Given the description of an element on the screen output the (x, y) to click on. 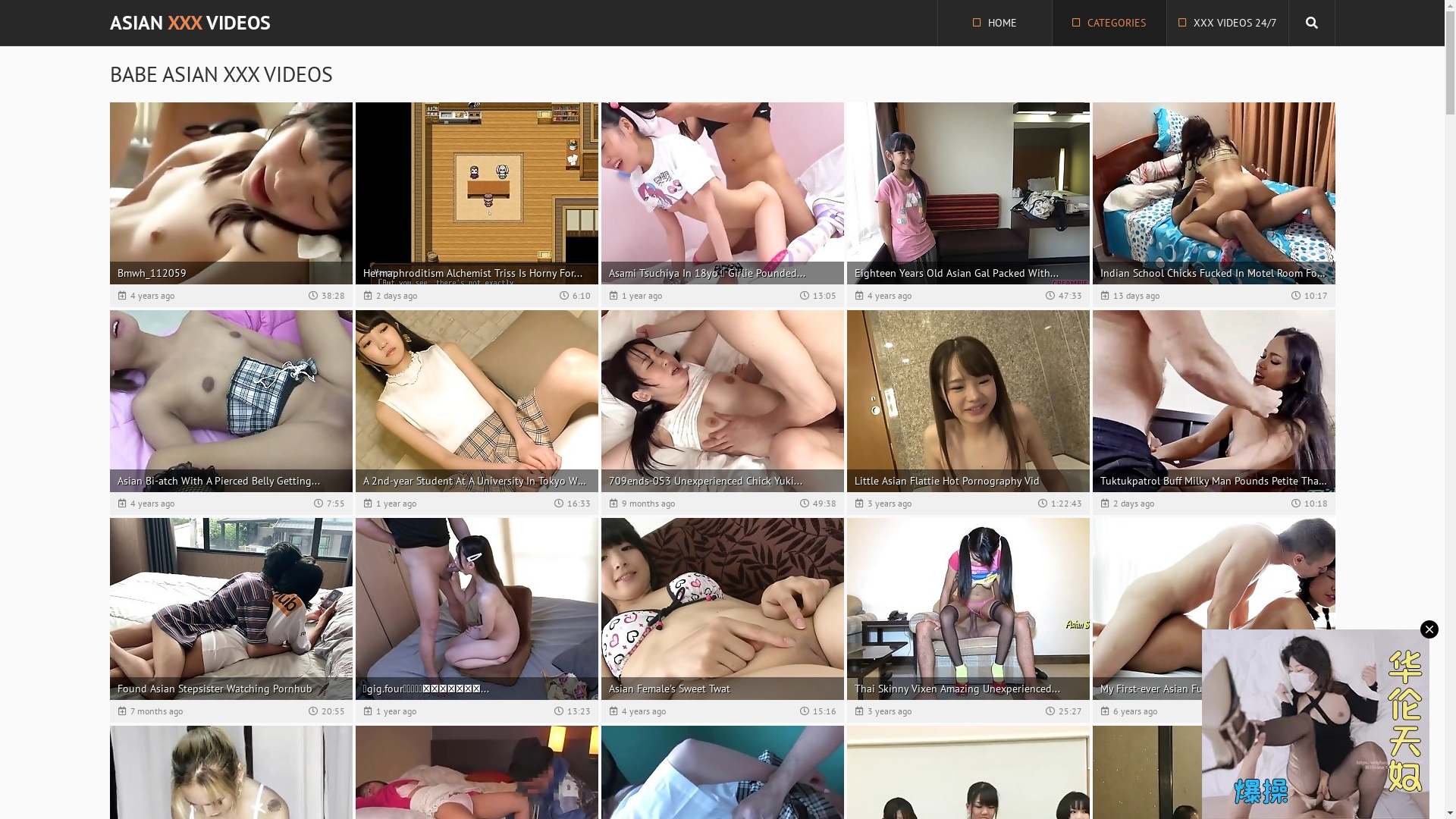
Bmwh_112059
4 years ago
38:28 Element type: text (230, 204)
Asian Female's Sweet Twat
4 years ago
15:16 Element type: text (721, 619)
Little Asian Flattie Hot Pornography Vid
3 years ago
1:22:43 Element type: text (967, 412)
709ends-053 Unexperienced Chick Yuki...
9 months ago
49:38 Element type: text (721, 412)
My First-ever Asian Fuck Customer
6 years ago
9:00 Element type: text (1213, 619)
CATEGORIES Element type: text (1109, 22)
ASIAN XXX VIDEOS Element type: text (189, 22)
HOME Element type: text (994, 22)
XXX VIDEOS 24/7 Element type: text (1226, 22)
Thai Skinny Vixen Amazing Unexperienced...
3 years ago
25:27 Element type: text (967, 619)
Found Asian Stepsister Watching Pornhub
7 months ago
20:55 Element type: text (230, 619)
